Given the description of an element on the screen output the (x, y) to click on. 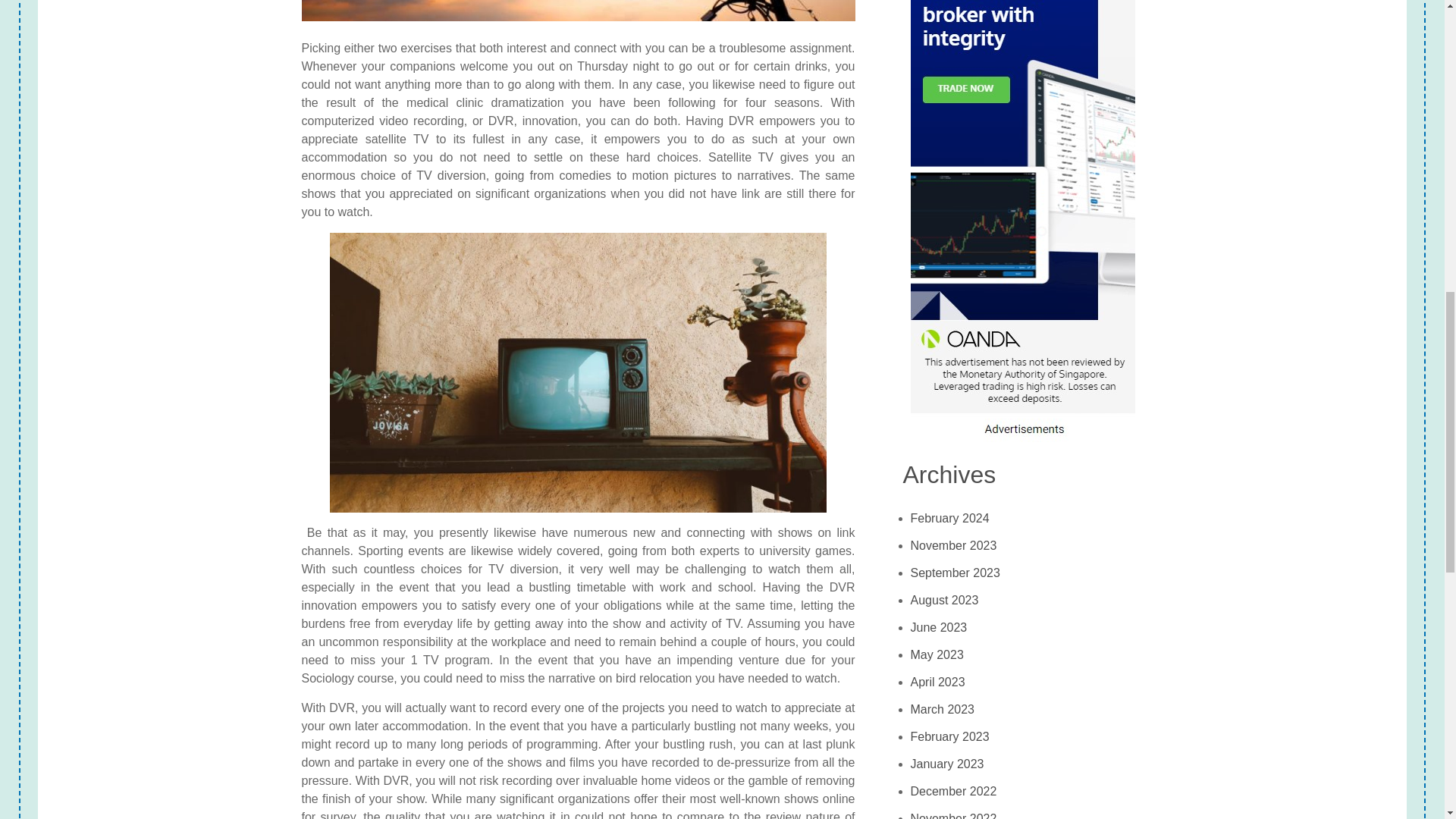
May 2023 (937, 655)
November 2023 (954, 545)
September 2023 (955, 573)
June 2023 (939, 627)
April 2023 (938, 682)
December 2022 (954, 791)
February 2024 (950, 518)
February 2023 (950, 737)
November 2022 (954, 812)
January 2023 (947, 764)
August 2023 (944, 600)
March 2023 (943, 709)
